Given the description of an element on the screen output the (x, y) to click on. 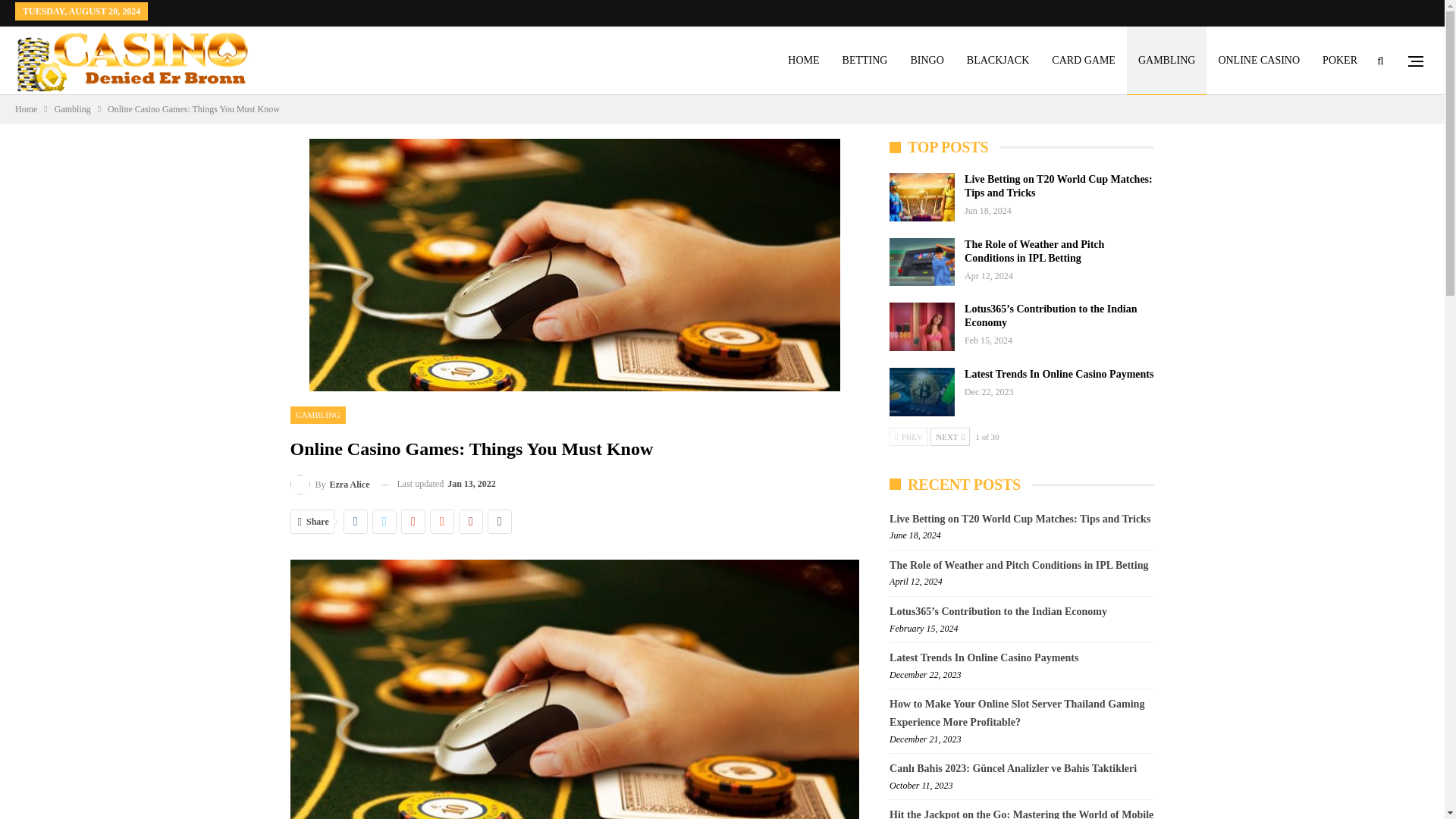
Live Betting on T20 World Cup Matches: Tips and Tricks (922, 196)
BETTING (865, 60)
CARD GAME (1083, 60)
Gambling (72, 108)
GAMBLING (317, 415)
ONLINE CASINO (1259, 60)
GAMBLING (1166, 60)
Browse Author Articles (329, 484)
Home (25, 108)
By Ezra Alice (329, 484)
